Given the description of an element on the screen output the (x, y) to click on. 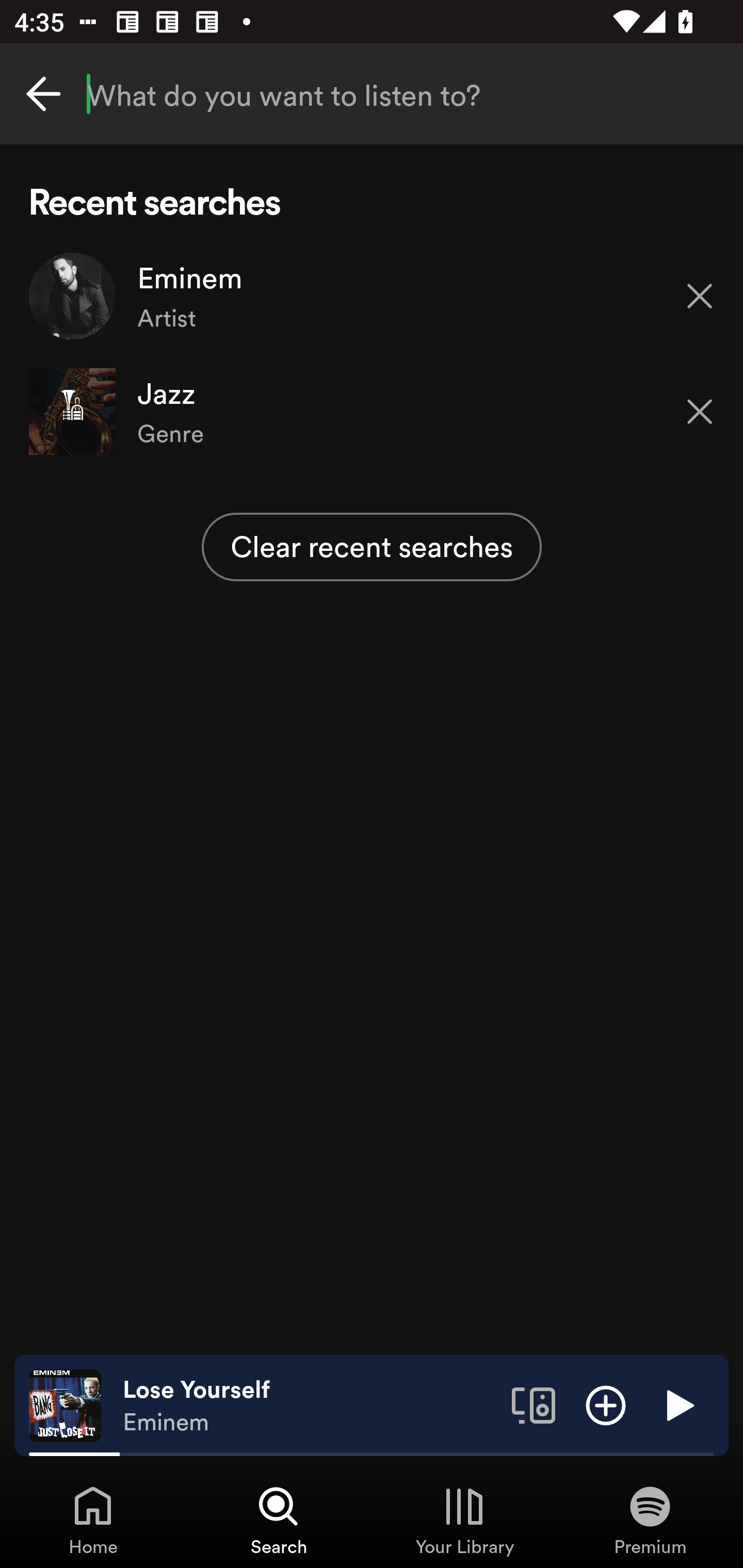
What do you want to listen to? (371, 93)
Cancel (43, 93)
Eminem Artist Remove (371, 296)
Remove (699, 295)
Jazz Genre Remove (371, 411)
Remove (699, 411)
Clear recent searches (371, 546)
Lose Yourself Eminem (309, 1405)
The cover art of the currently playing track (64, 1404)
Connect to a device. Opens the devices menu (533, 1404)
Add item (605, 1404)
Play (677, 1404)
Home, Tab 1 of 4 Home Home (92, 1519)
Search, Tab 2 of 4 Search Search (278, 1519)
Your Library, Tab 3 of 4 Your Library Your Library (464, 1519)
Premium, Tab 4 of 4 Premium Premium (650, 1519)
